Given the description of an element on the screen output the (x, y) to click on. 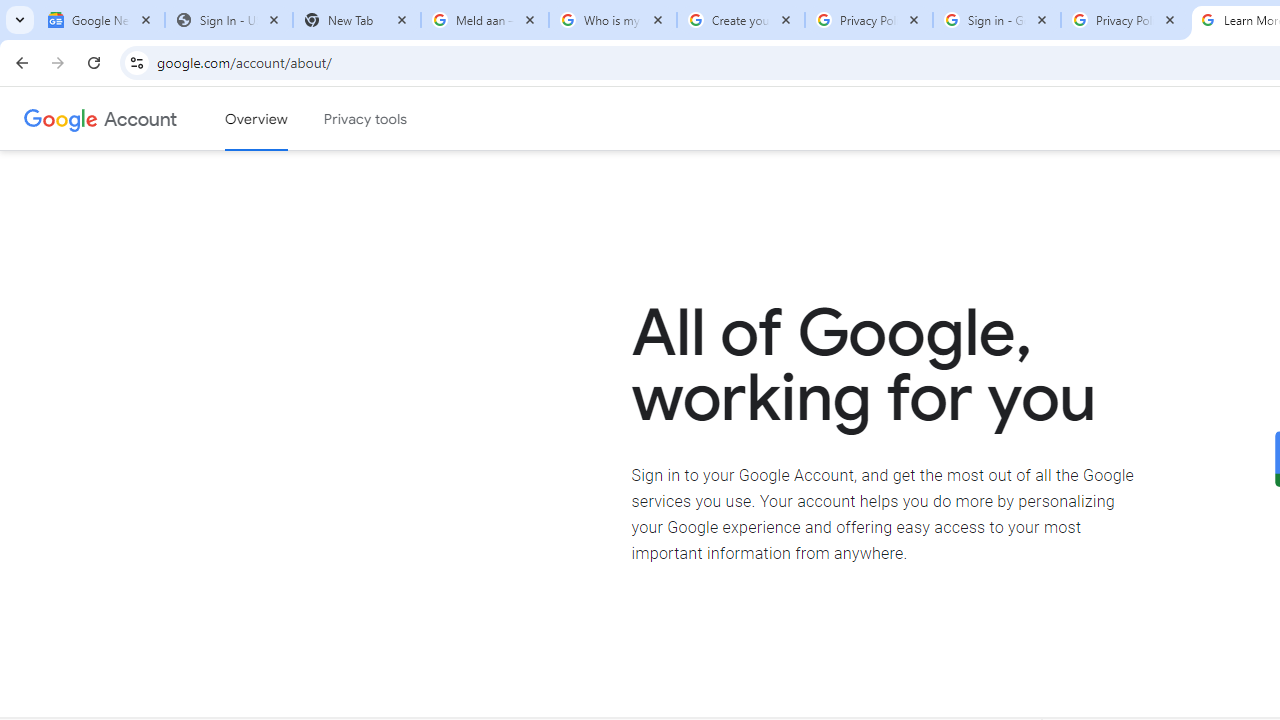
Sign In - USA TODAY (229, 20)
Google Account (140, 118)
New Tab (357, 20)
